Given the description of an element on the screen output the (x, y) to click on. 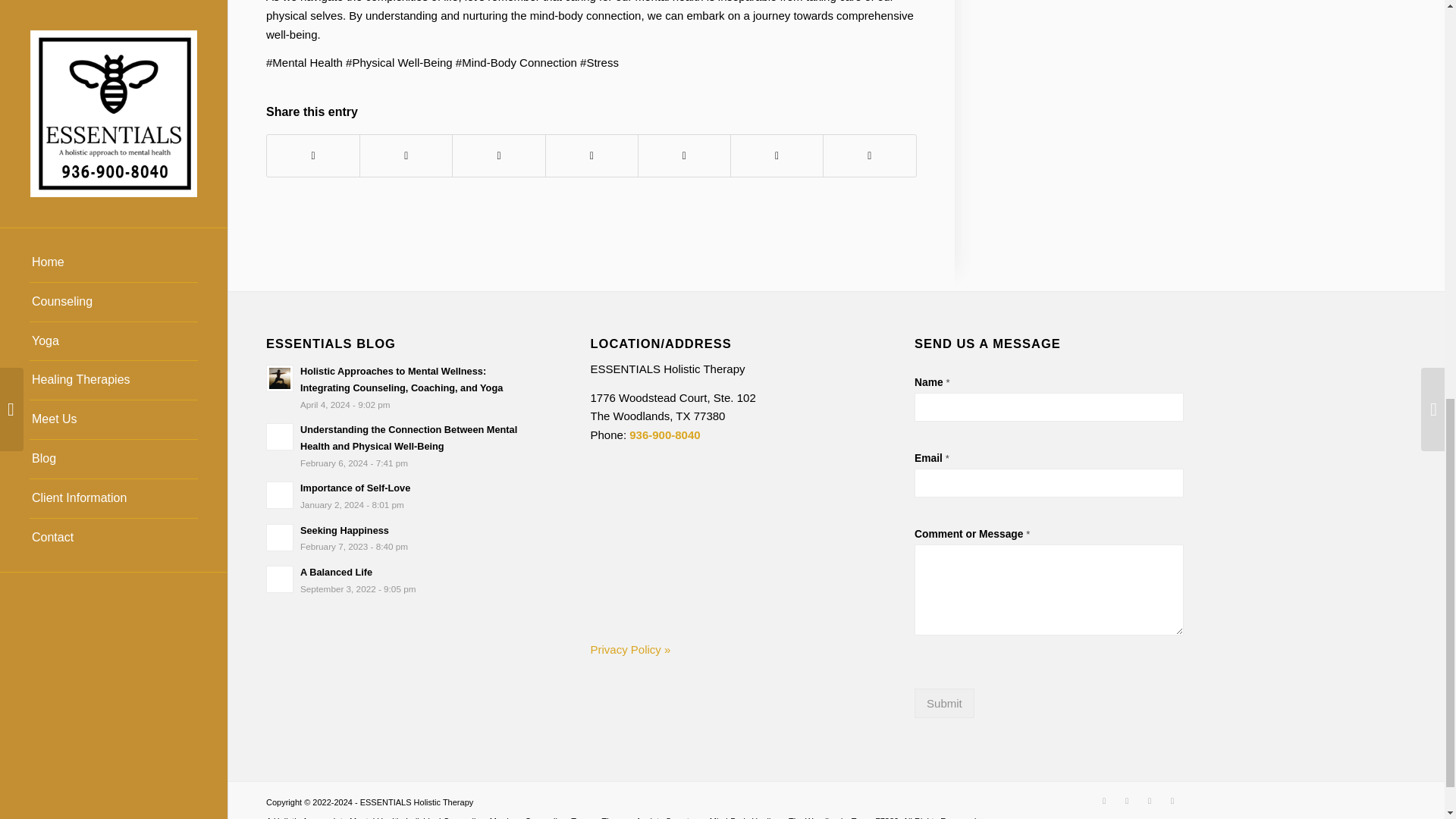
Read: Importance of Self-Love (280, 494)
